Given the description of an element on the screen output the (x, y) to click on. 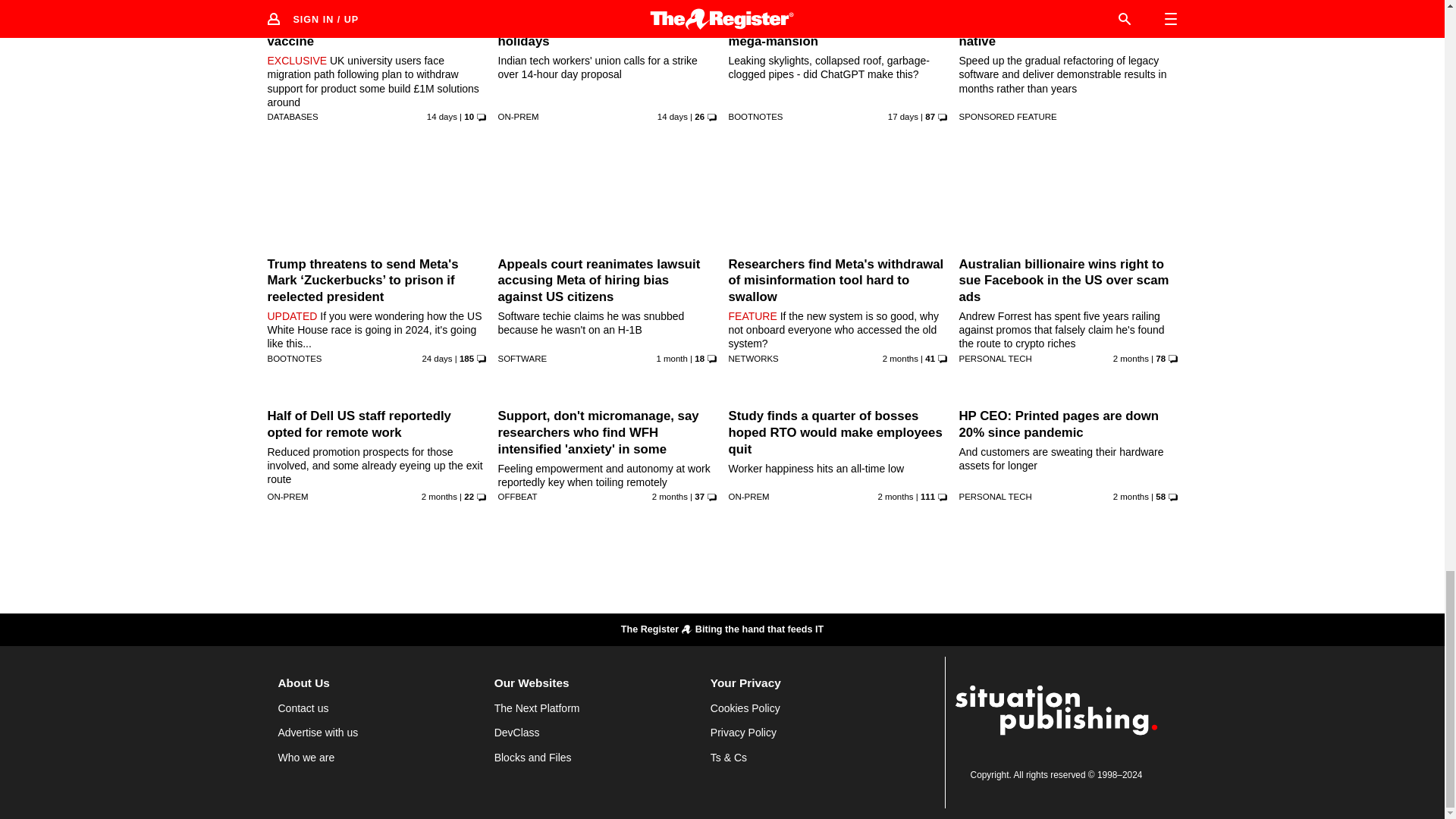
22 Jul 2024 6:32 (672, 116)
20 Jun 2024 3:30 (1130, 358)
20 Jun 2024 14:26 (439, 496)
27 Jun 2024 21:5 (671, 358)
11 Jun 2024 8:30 (669, 496)
22 Jul 2024 10:34 (441, 116)
18 Jul 2024 19:56 (903, 116)
18 Jun 2024 14:2 (900, 358)
11 Jul 2024 19:43 (436, 358)
